Given the description of an element on the screen output the (x, y) to click on. 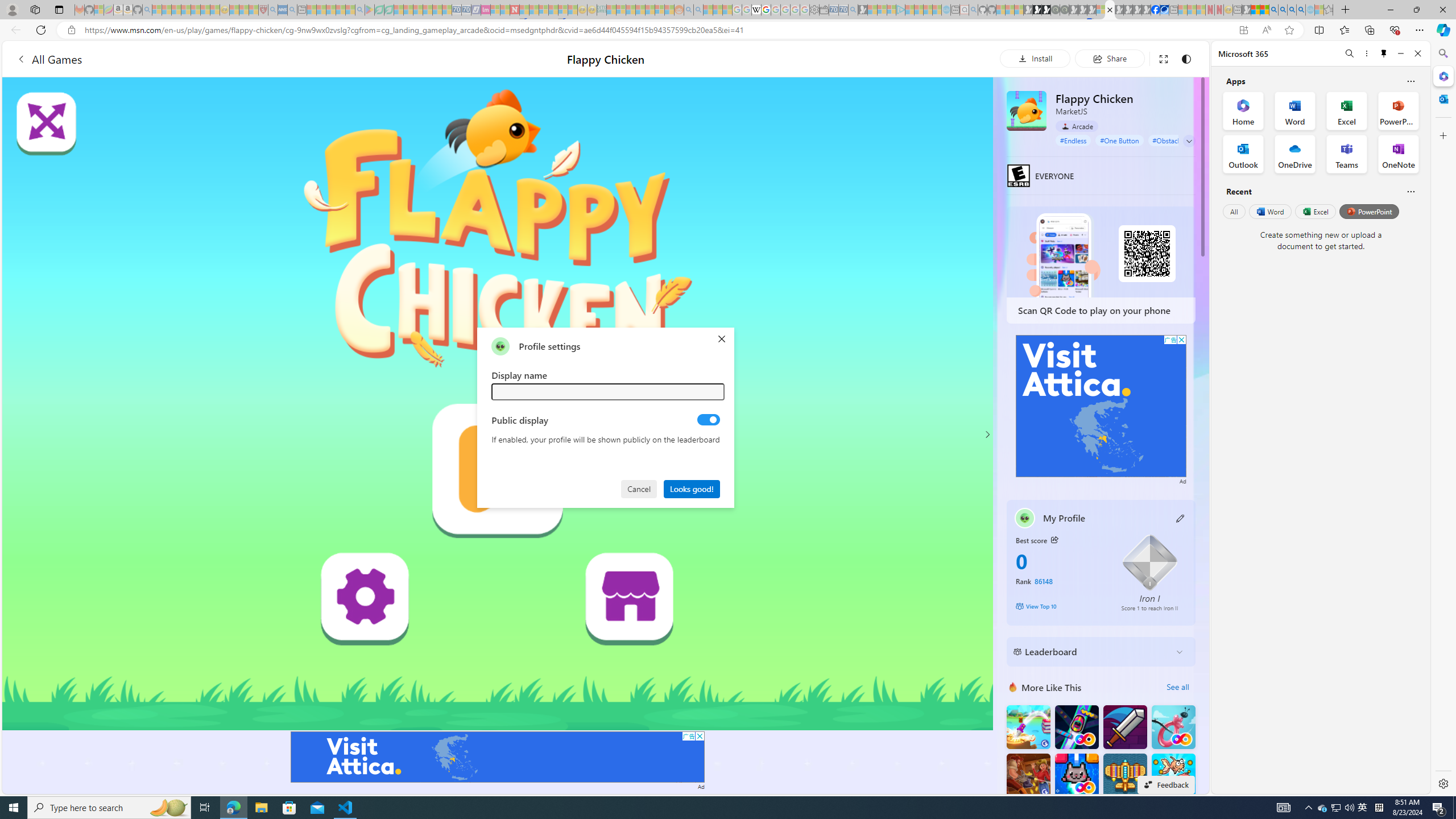
Share (1109, 58)
More Like This (1012, 686)
github - Search - Sleeping (972, 9)
Nordace | Facebook (1154, 9)
#One Button (1119, 140)
Back (13, 29)
MSN - Sleeping (1246, 9)
See all (1177, 687)
Class: button edit-icon (1180, 517)
Excel (1315, 210)
Local - MSN - Sleeping (253, 9)
Word Office App (1295, 110)
